Given the description of an element on the screen output the (x, y) to click on. 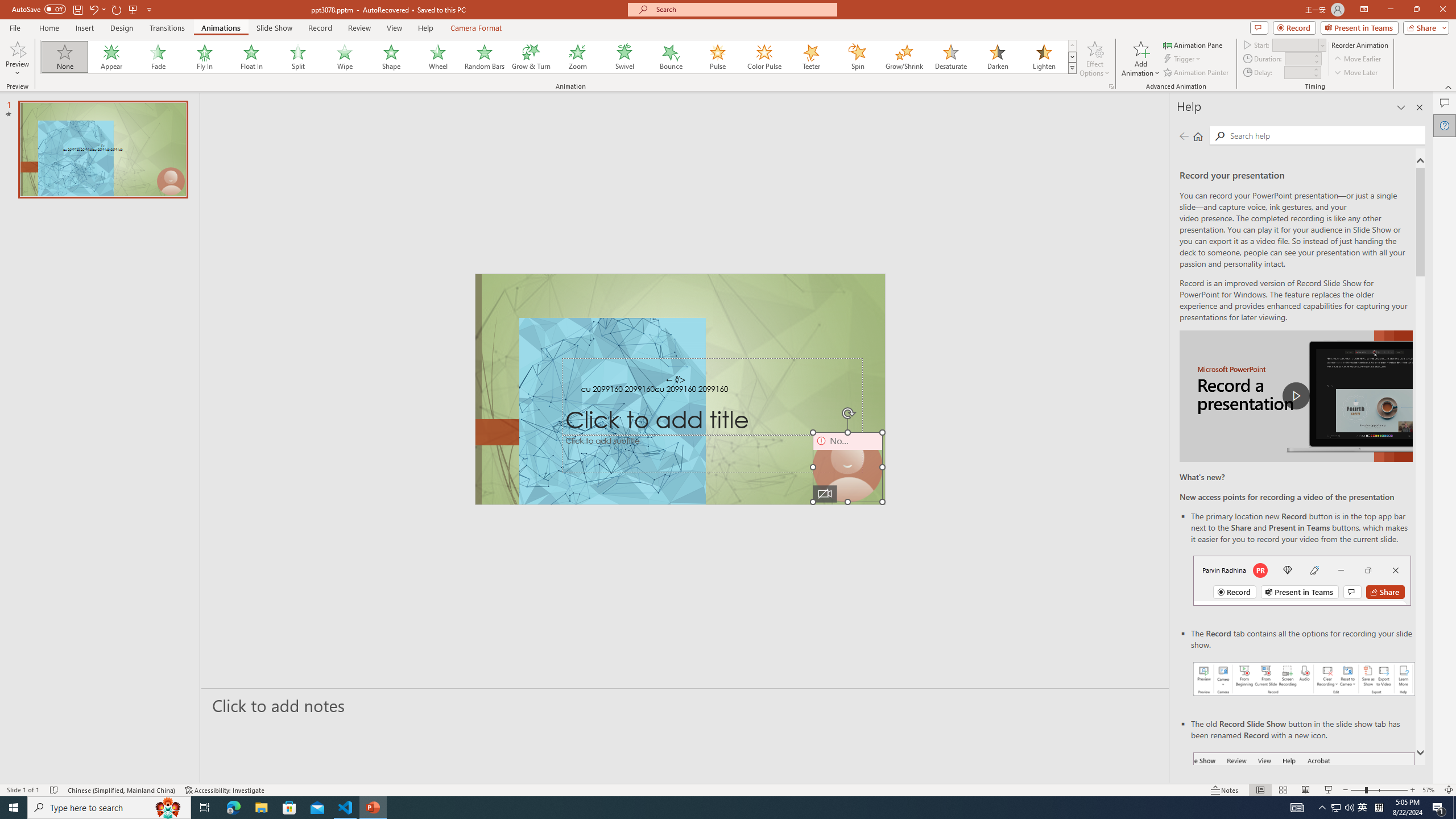
Fly In (205, 56)
Trigger (1182, 58)
Pulse (717, 56)
Teeter (810, 56)
Effect Options (1094, 58)
Grow/Shrink (903, 56)
Animation Duration (1298, 58)
Random Bars (484, 56)
